Given the description of an element on the screen output the (x, y) to click on. 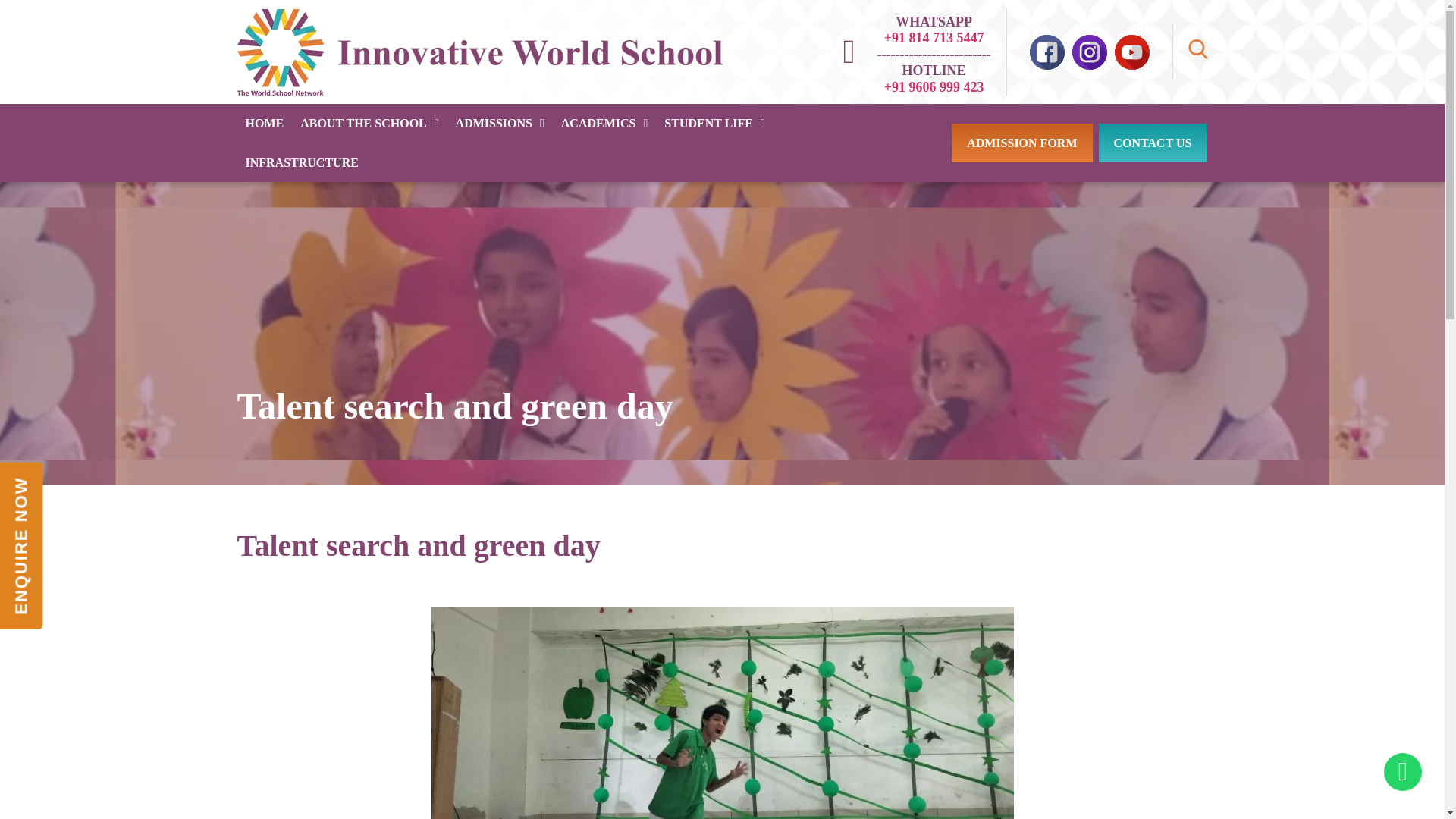
ADMISSIONS (499, 123)
HOME (263, 123)
ACADEMICS (604, 123)
INFRASTRUCTURE (300, 162)
ABOUT THE SCHOOL (369, 123)
STUDENT LIFE (714, 123)
